Given the description of an element on the screen output the (x, y) to click on. 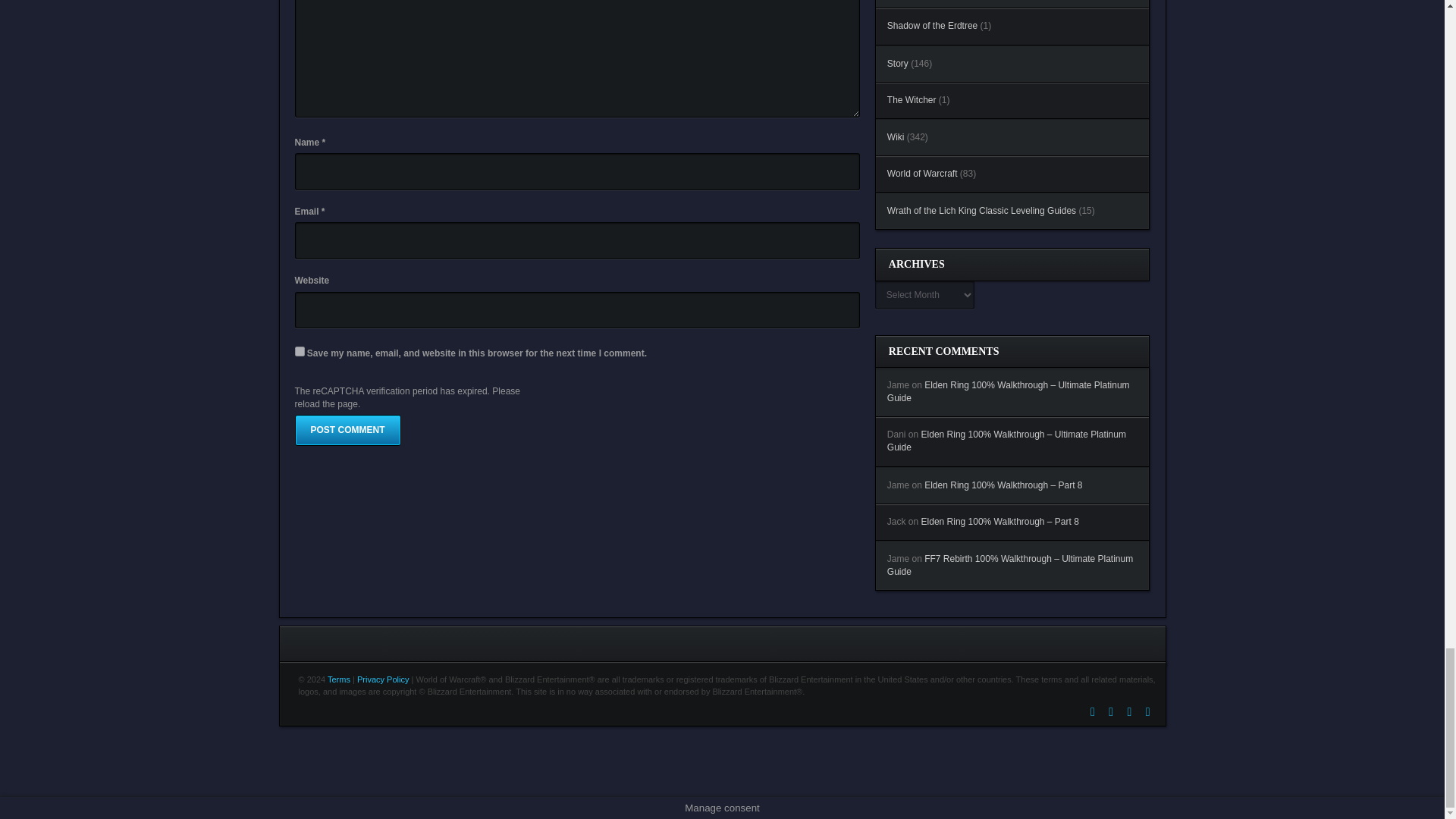
Terms (338, 678)
Post Comment (347, 429)
yes (299, 351)
Privacy Policy (382, 678)
